Given the description of an element on the screen output the (x, y) to click on. 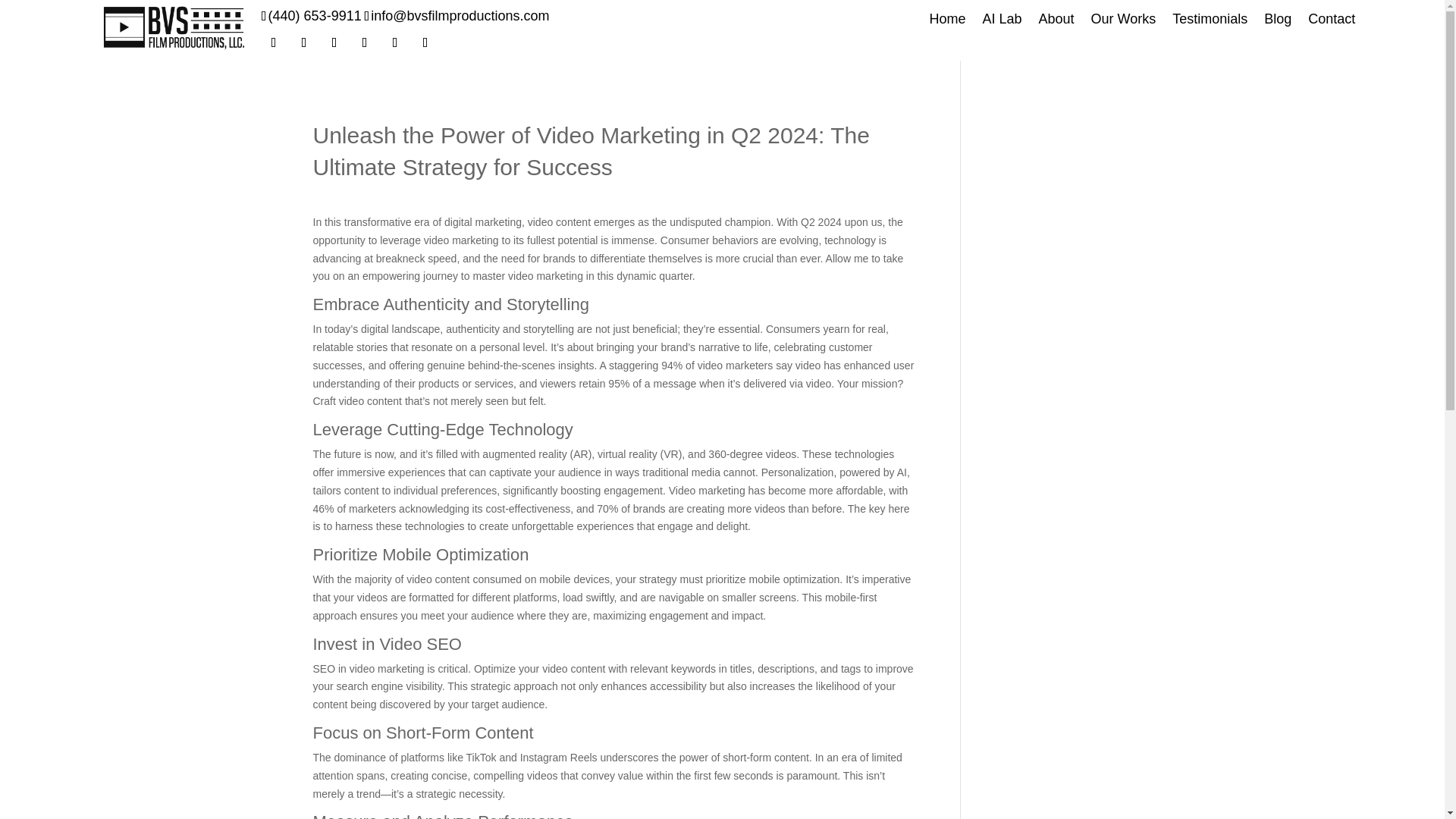
Follow on Facebook (273, 42)
Follow on X (303, 42)
AI Lab (1001, 21)
Our Works (1123, 21)
Contact (1331, 21)
Testimonials (1209, 21)
Blog (1277, 21)
Follow on LinkedIn (394, 42)
About (1056, 21)
Home (946, 21)
Follow on RSS (425, 42)
Follow on Instagram (333, 42)
Follow on Youtube (364, 42)
